Given the description of an element on the screen output the (x, y) to click on. 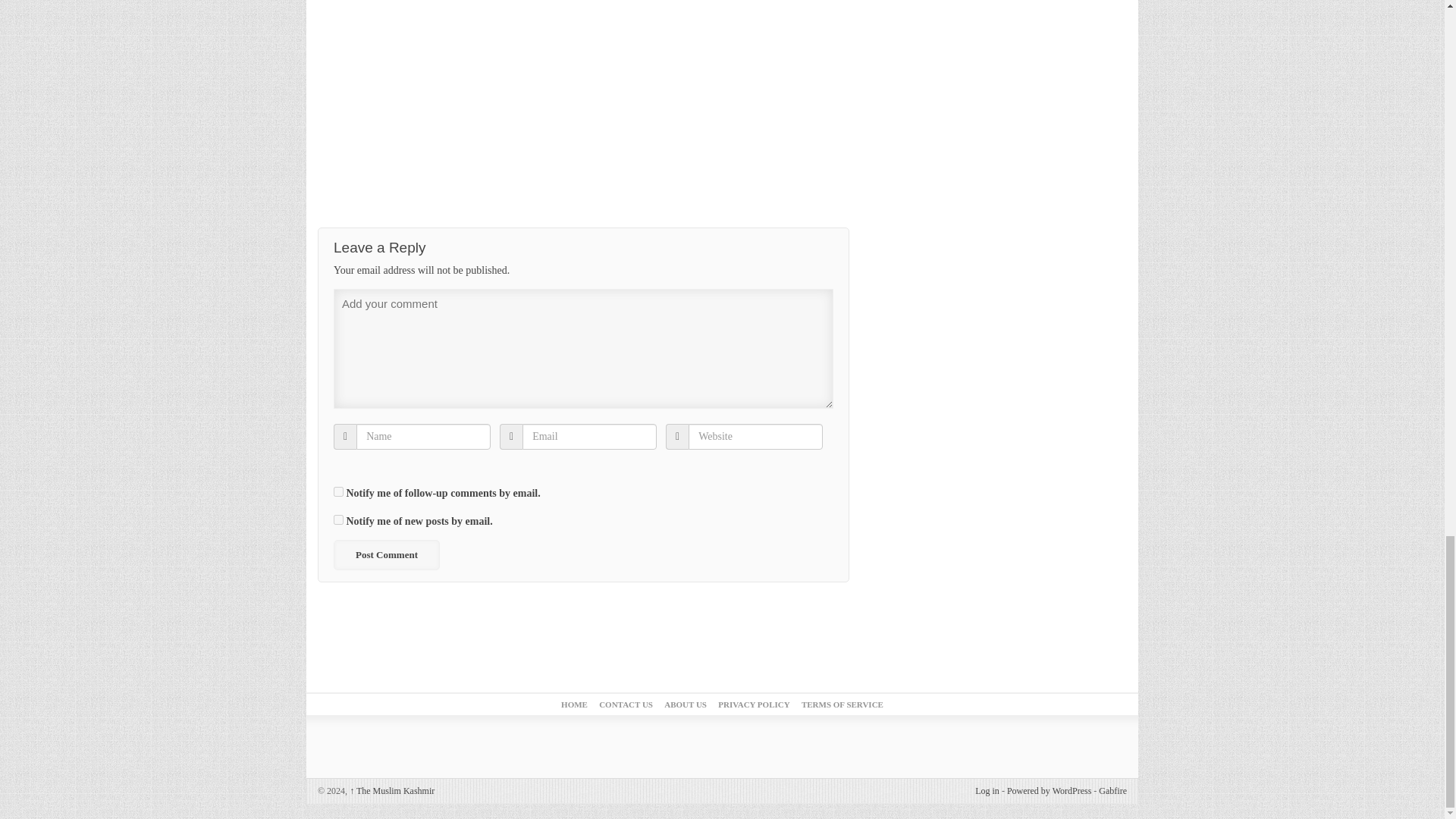
CONTACT US (625, 704)
PRIVACY POLICY (753, 704)
subscribe (338, 519)
ABOUT US (684, 704)
HOME (574, 704)
Post Comment (386, 554)
Post Comment (386, 554)
subscribe (338, 491)
